Given the description of an element on the screen output the (x, y) to click on. 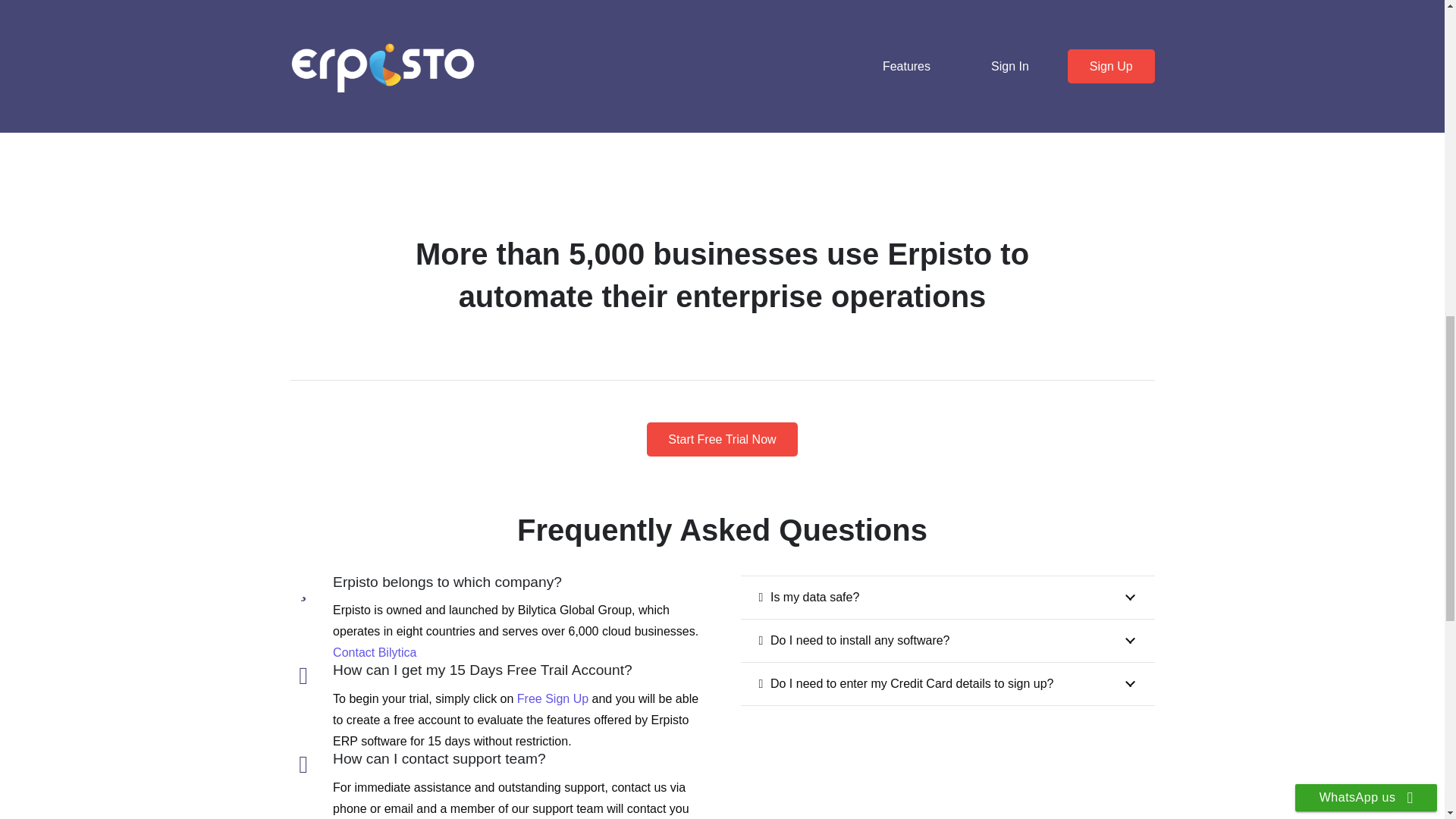
Is my data safe? (946, 597)
Do I need to enter my Credit Card details to sign up? (946, 683)
Start Free Trial Now (721, 439)
Contact Bilytica (374, 652)
Do I need to install any software? (946, 640)
Free Sign Up (552, 698)
